Given the description of an element on the screen output the (x, y) to click on. 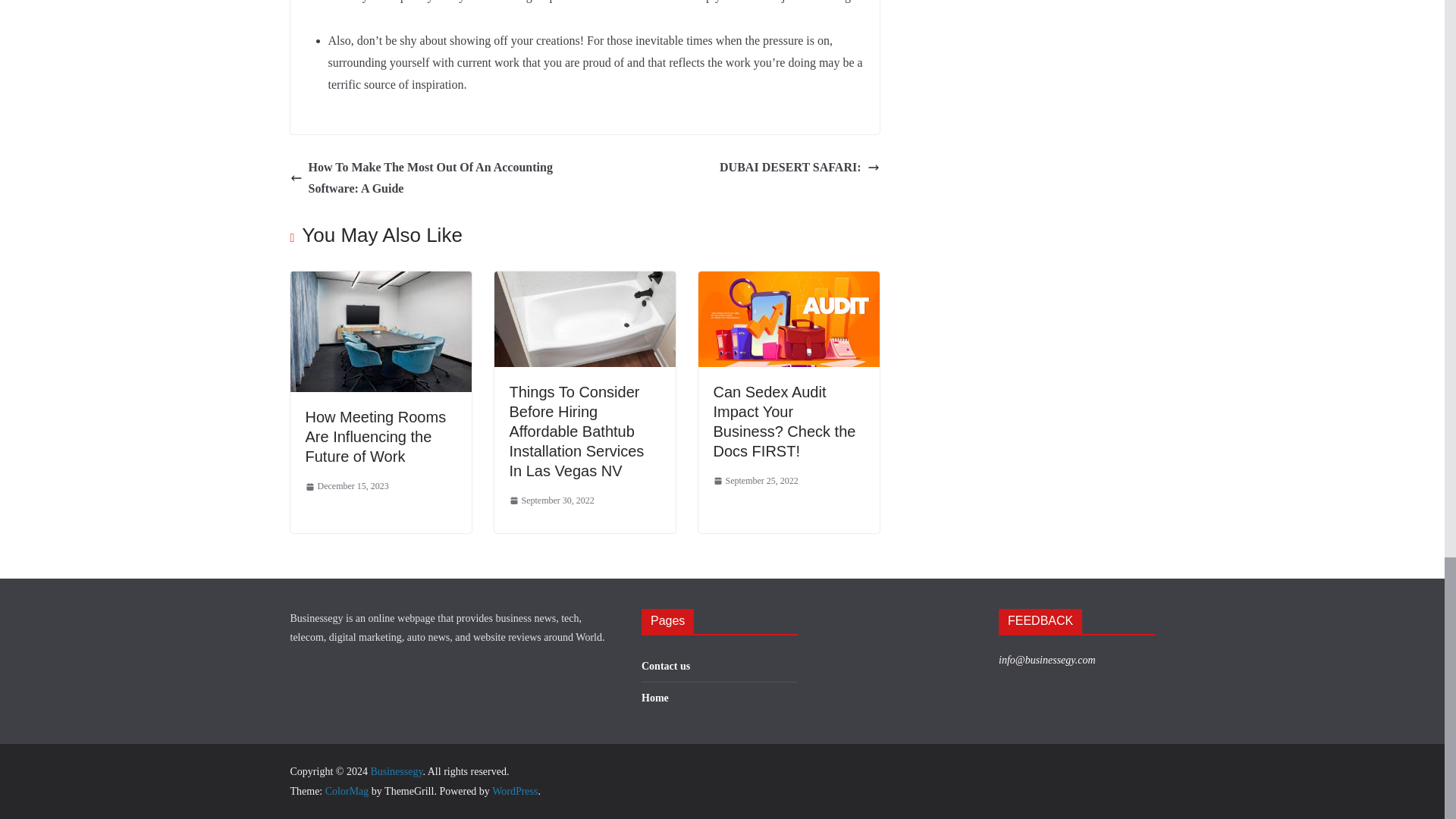
How Meeting Rooms Are Influencing the Future of Work (374, 436)
September 30, 2022 (551, 501)
7:25 pm (346, 486)
December 15, 2023 (346, 486)
How Meeting Rooms Are Influencing the Future of Work (374, 436)
How To Make The Most Out Of An Accounting Software: A Guide (432, 178)
6:14 pm (755, 481)
